Given the description of an element on the screen output the (x, y) to click on. 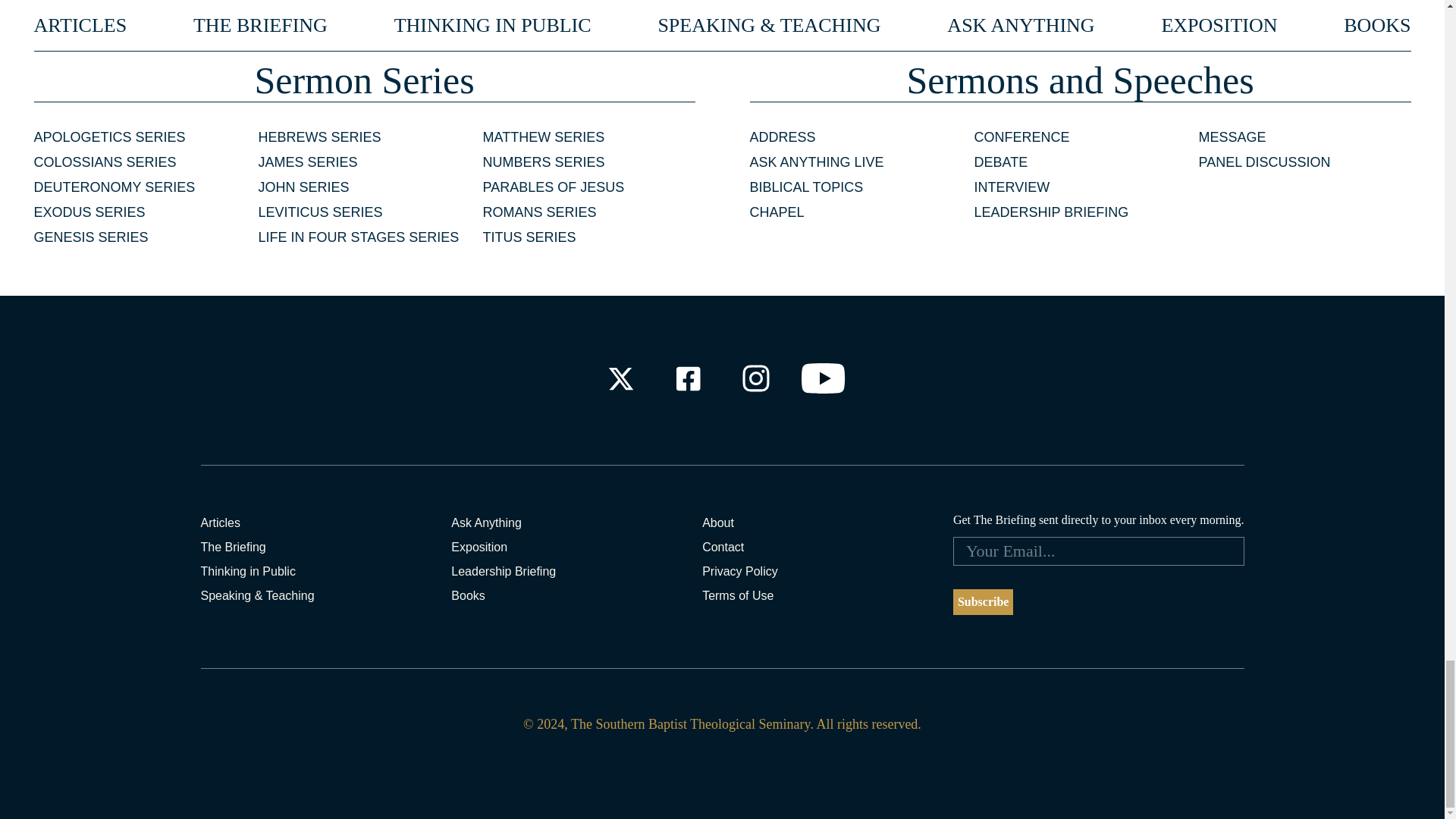
Check out our Facebook Profile (687, 378)
Check out our Instagram Profile (755, 378)
Check out our Youtube Channel (822, 378)
Check out our X Profile (620, 378)
Subscribe (983, 601)
